Given the description of an element on the screen output the (x, y) to click on. 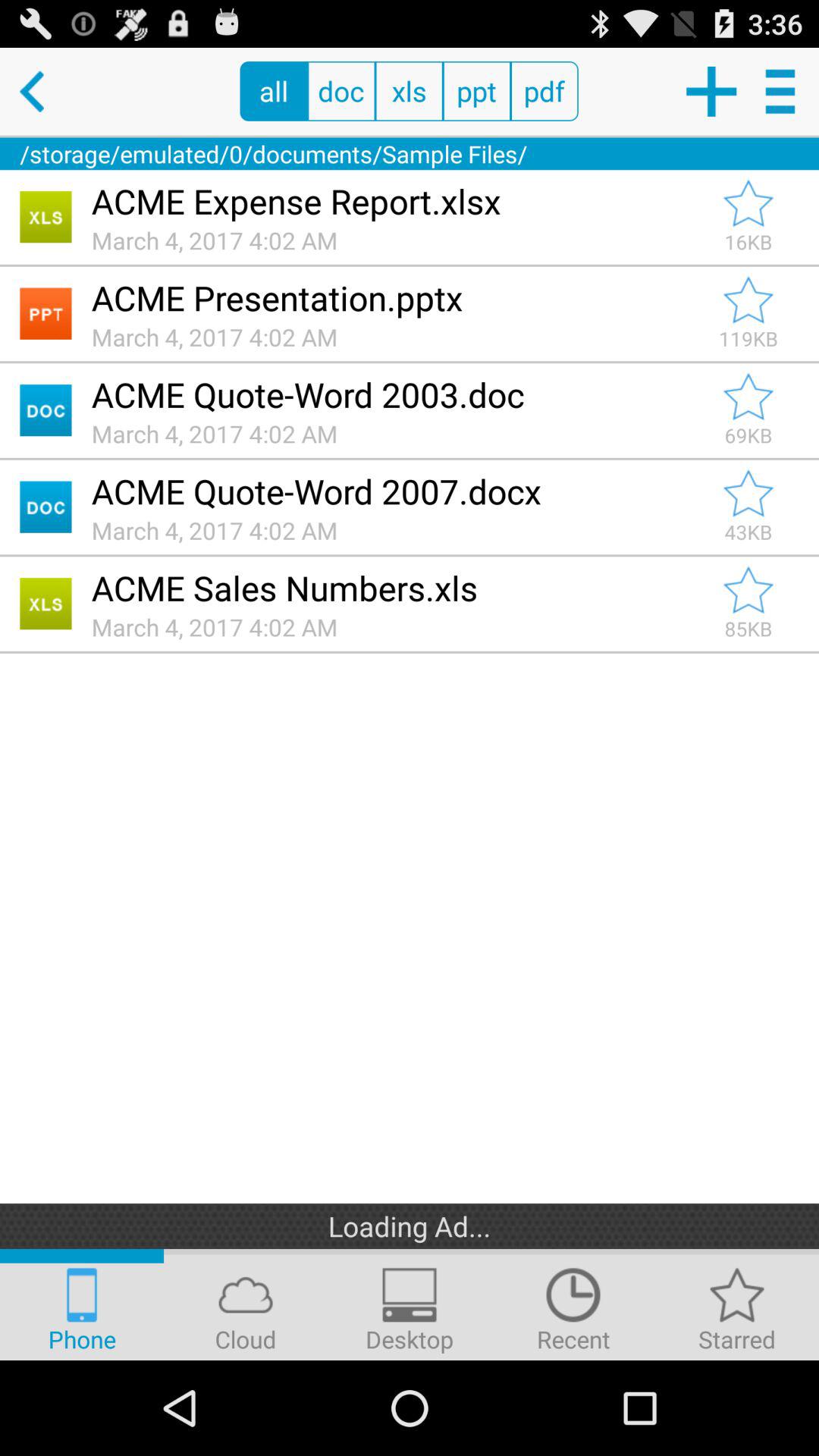
add a new file (710, 91)
